Given the description of an element on the screen output the (x, y) to click on. 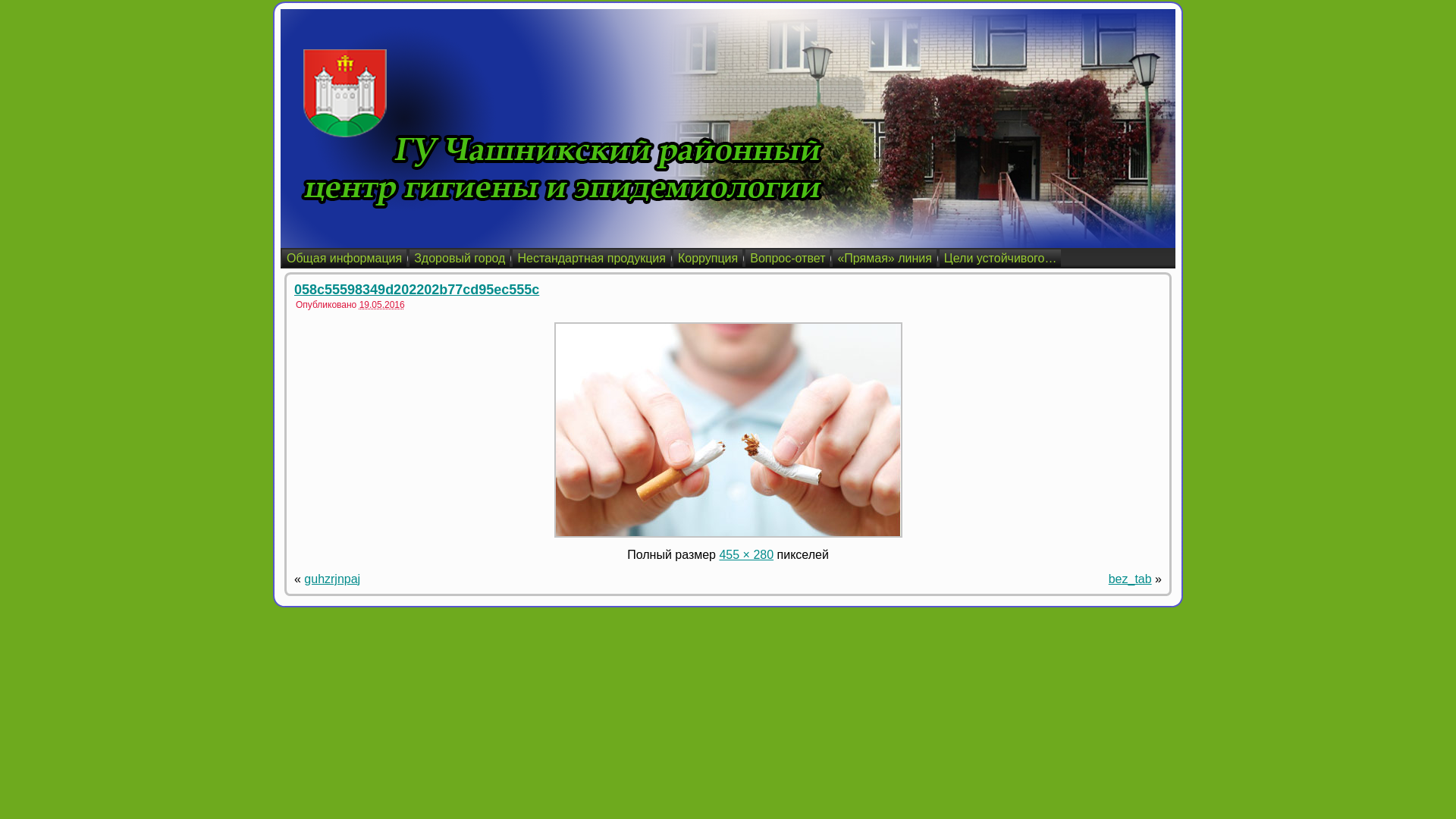
058c55598349d202202b77cd95ec555c Element type: text (416, 289)
guhzrjnpaj Element type: text (332, 578)
bez_tab Element type: text (1129, 578)
058c55598349d202202b77cd95ec555c Element type: hover (727, 533)
